Given the description of an element on the screen output the (x, y) to click on. 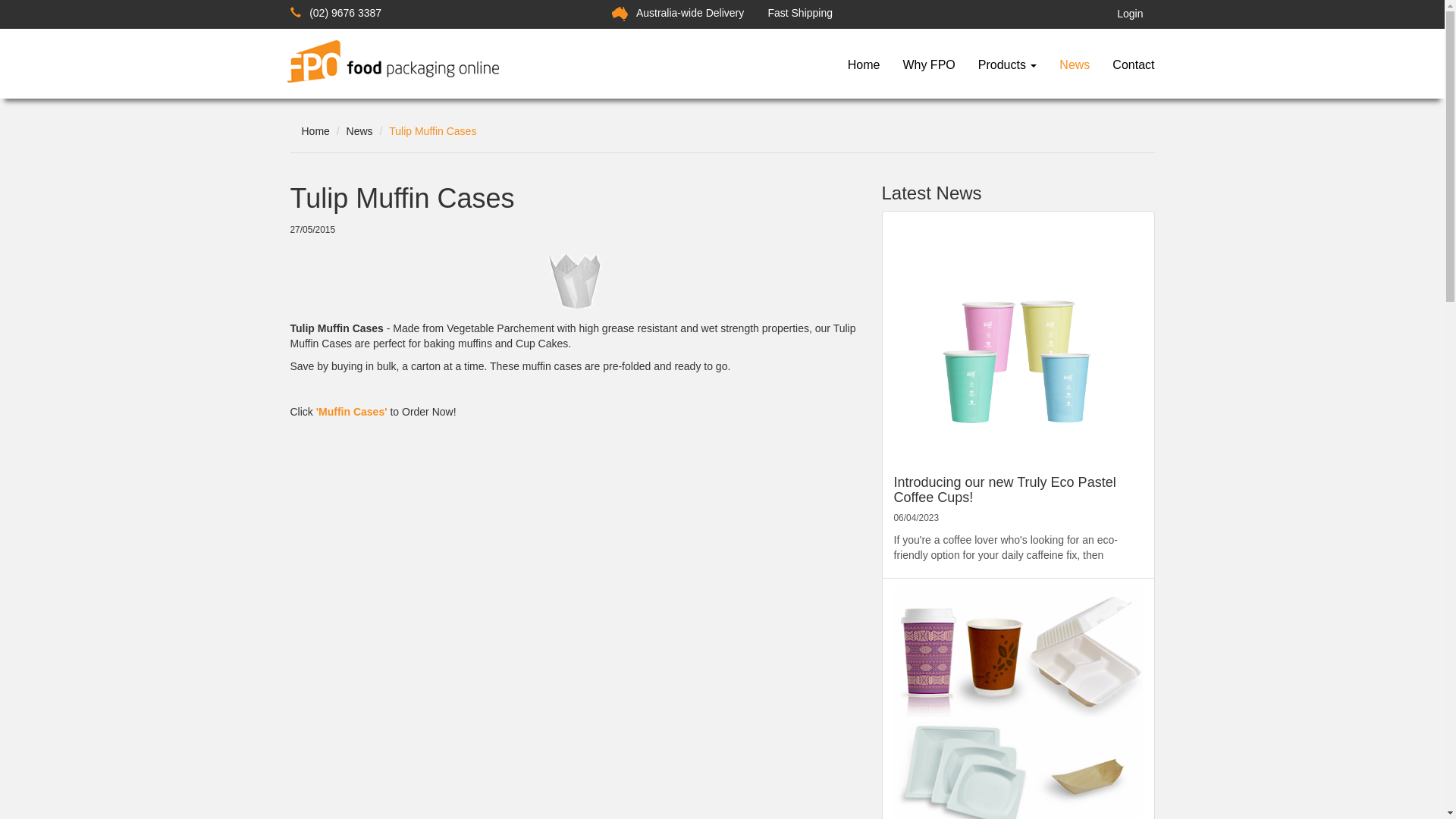
Home Element type: text (315, 131)
News Element type: text (359, 131)
Home Element type: text (863, 65)
Login Element type: text (1129, 14)
   (02) 9676 3387 Element type: text (335, 12)
   Australia-wide Delivery        Fast Shipping Element type: text (721, 12)
Contact Element type: text (1133, 65)
News Element type: text (1074, 65)
'Muffin Cases' Element type: text (351, 411)
Why FPO Element type: text (928, 65)
Tulip Muffin Cases Element type: text (432, 131)
view shopping cart Element type: hover (1158, 14)
Products Element type: text (1007, 65)
